Given the description of an element on the screen output the (x, y) to click on. 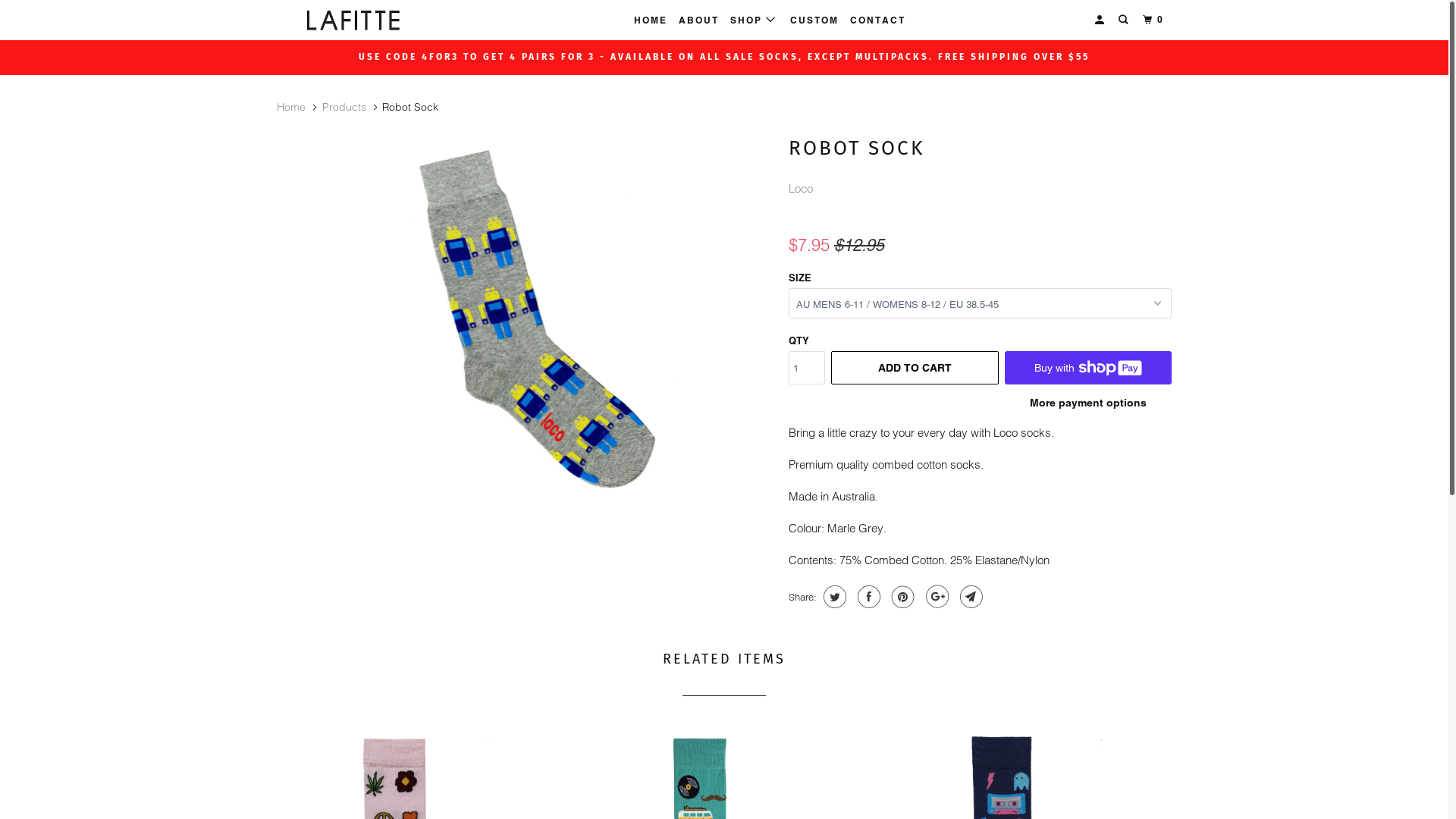
Search Element type: hover (1124, 19)
Share this on Google+ Element type: hover (935, 596)
More payment options Element type: text (1087, 407)
Products Element type: text (344, 106)
Robot Sock Element type: hover (524, 318)
LAFITTE Element type: hover (354, 20)
Loco Element type: text (800, 188)
CUSTOM Element type: text (814, 20)
HOME Element type: text (650, 20)
My Account  Element type: hover (1101, 19)
SHOP Element type: text (754, 19)
ADD TO CART Element type: text (914, 367)
Share this on Twitter Element type: hover (832, 596)
0 Element type: text (1154, 19)
Email this to a friend Element type: hover (969, 596)
Home Element type: text (290, 106)
CONTACT Element type: text (877, 20)
Share this on Facebook Element type: hover (866, 596)
Share this on Pinterest Element type: hover (901, 596)
ABOUT Element type: text (698, 20)
